Given the description of an element on the screen output the (x, y) to click on. 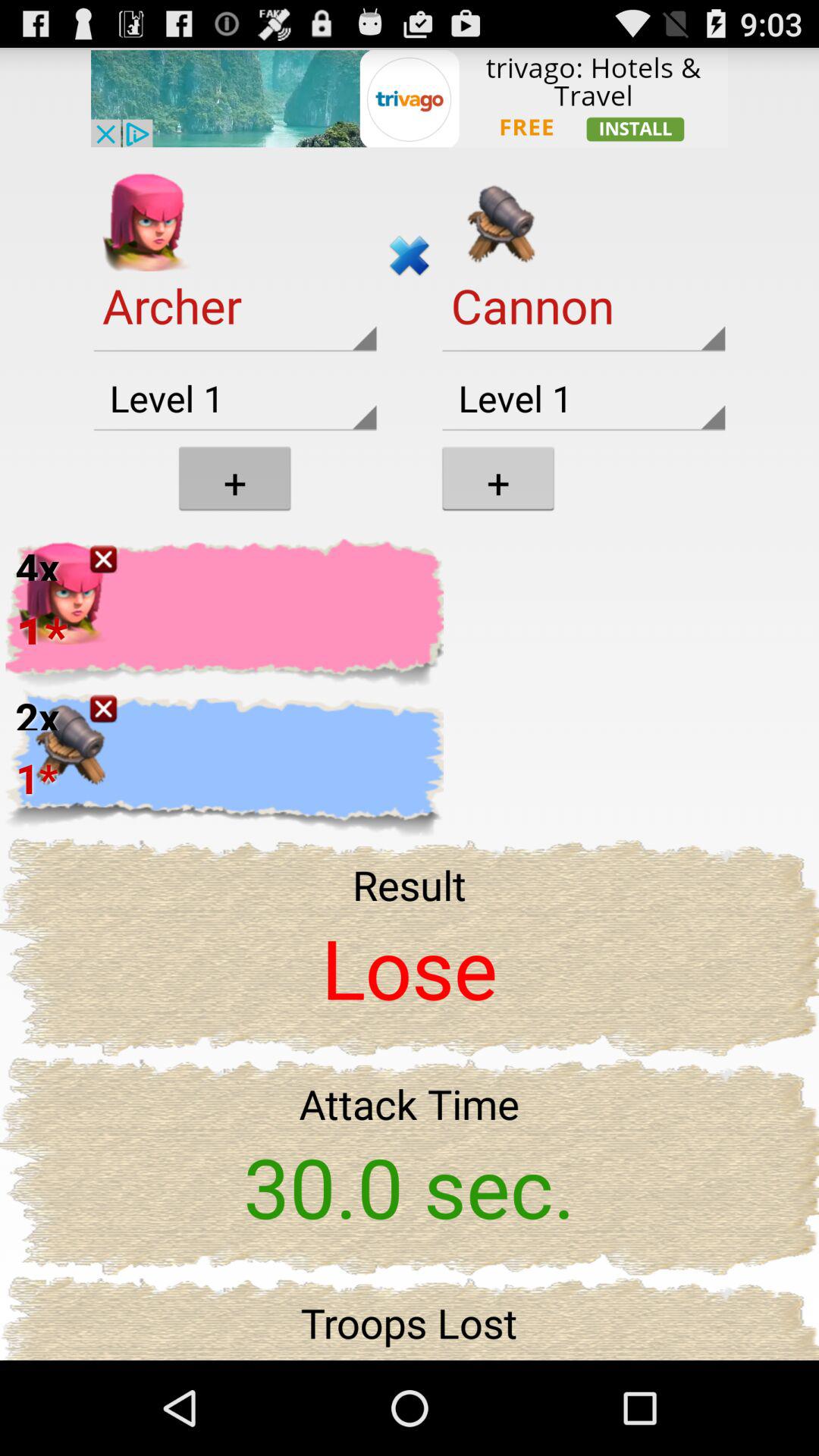
open advertisement (409, 97)
